Given the description of an element on the screen output the (x, y) to click on. 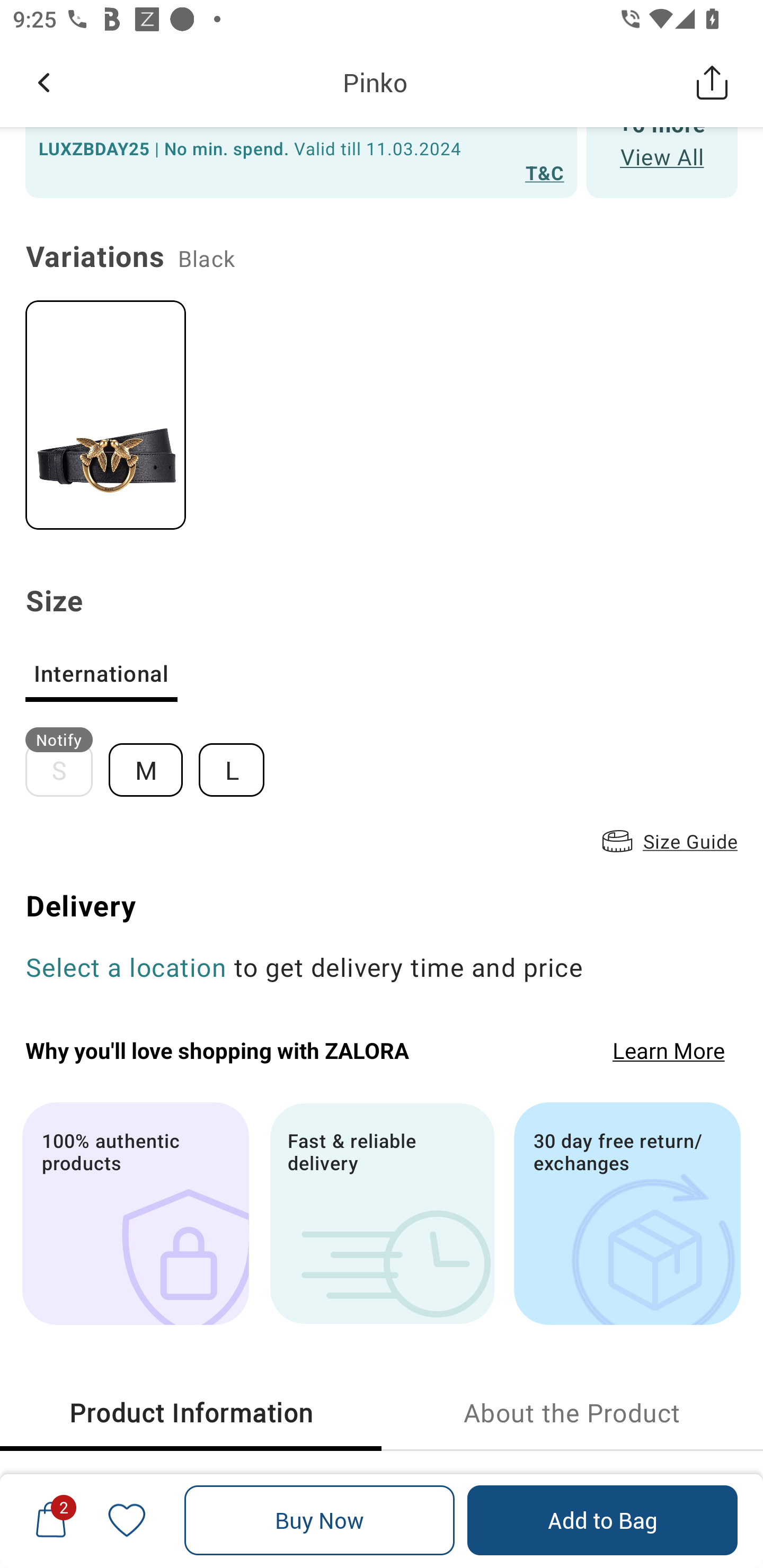
Pinko (375, 82)
Share this Product (711, 82)
+6 more
View All (661, 162)
T&C (544, 172)
Notify S (66, 761)
M (153, 761)
L (239, 761)
Size Guide (667, 840)
Learn More (668, 1049)
100% authentic products (135, 1213)
Fast & reliable delivery (381, 1213)
30 day free return/exchanges (627, 1213)
About the Product (572, 1412)
Buy Now (319, 1519)
Add to Bag (601, 1519)
2 (50, 1520)
